Given the description of an element on the screen output the (x, y) to click on. 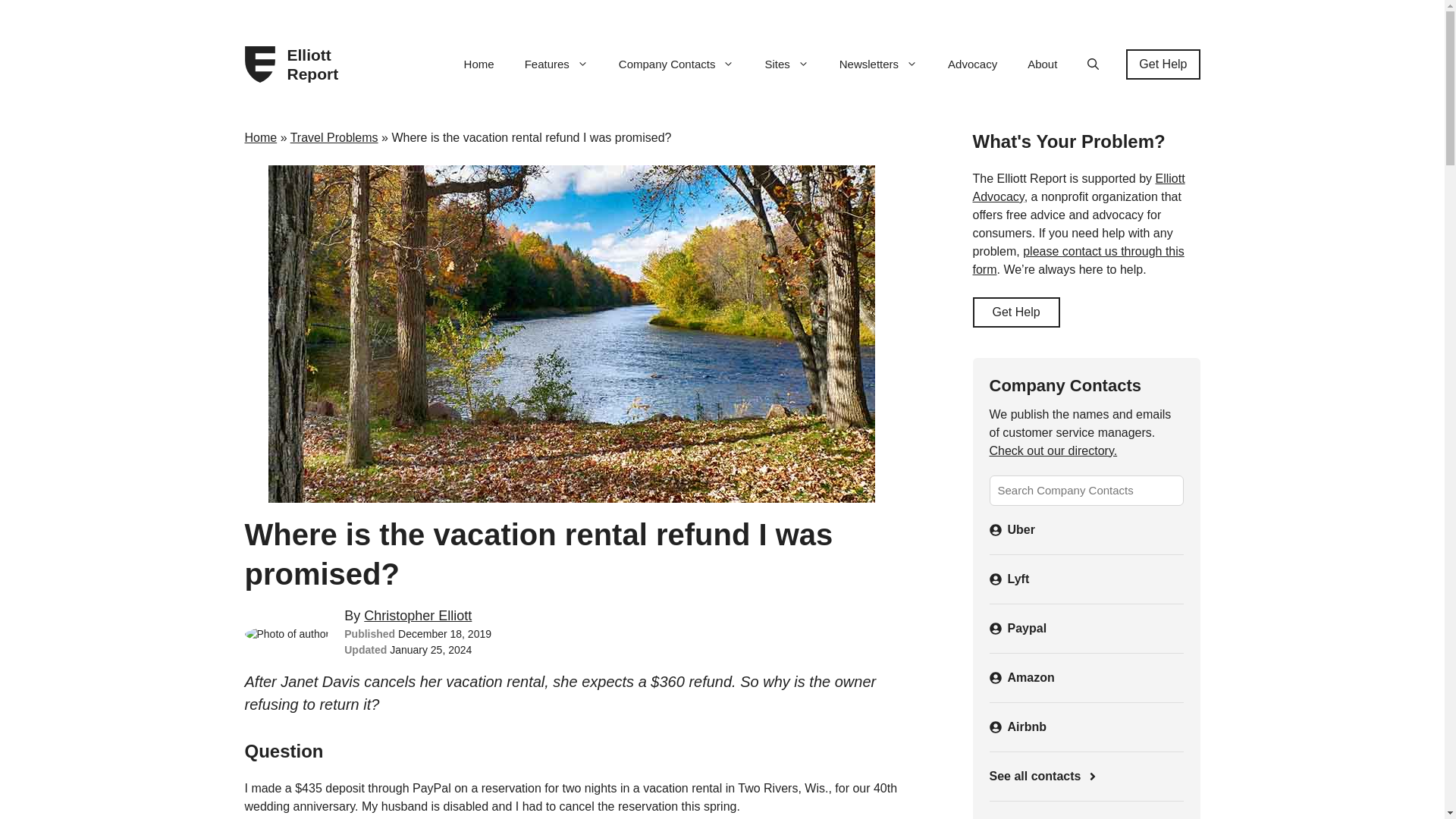
About (1041, 64)
Company Contacts (676, 64)
Features (556, 64)
Sites (786, 64)
Elliott Report (318, 64)
Get Help (1162, 64)
Home (478, 64)
Advocacy (972, 64)
Advertisement (1085, 814)
Newsletters (878, 64)
